Given the description of an element on the screen output the (x, y) to click on. 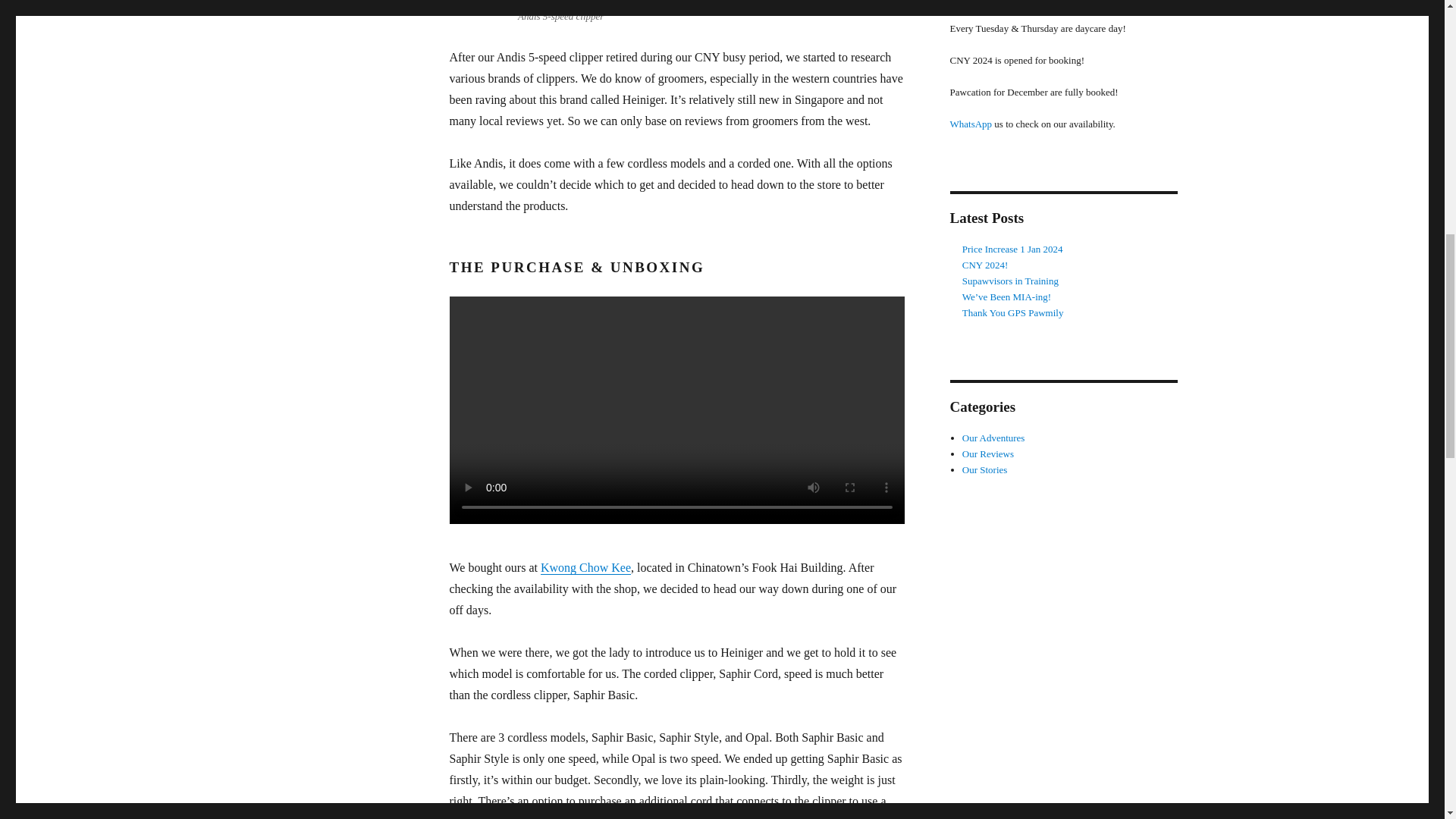
Our Adventures (993, 437)
Thank You GPS Pawmily (1013, 312)
WhatsApp (970, 123)
Supawvisors in Training (1010, 280)
Kwong Chow Kee (585, 567)
Our Reviews (987, 453)
Price Increase 1 Jan 2024 (1012, 248)
Our Stories (984, 469)
CNY 2024! (985, 265)
